Given the description of an element on the screen output the (x, y) to click on. 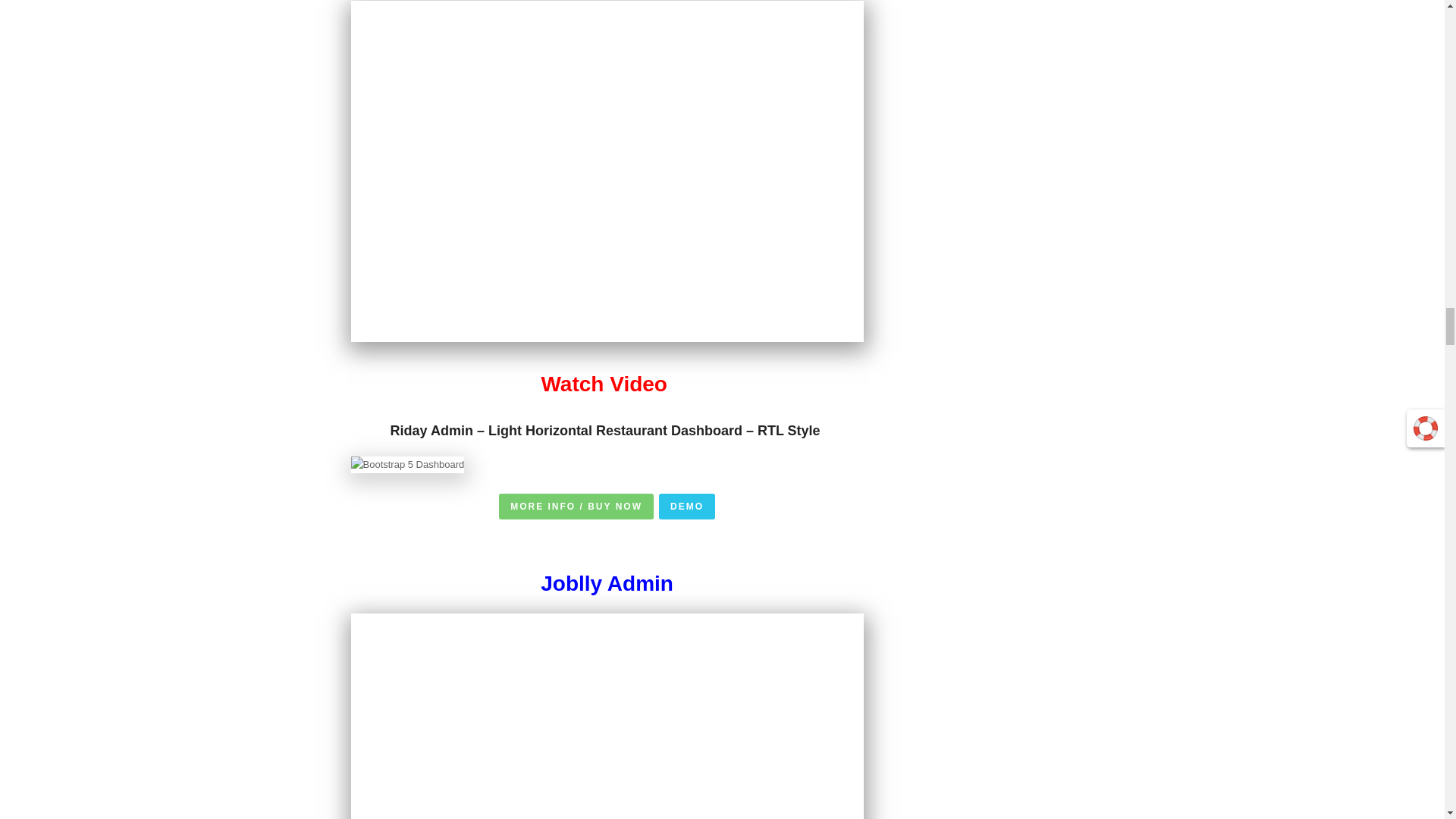
YouTube video player (606, 716)
